Given the description of an element on the screen output the (x, y) to click on. 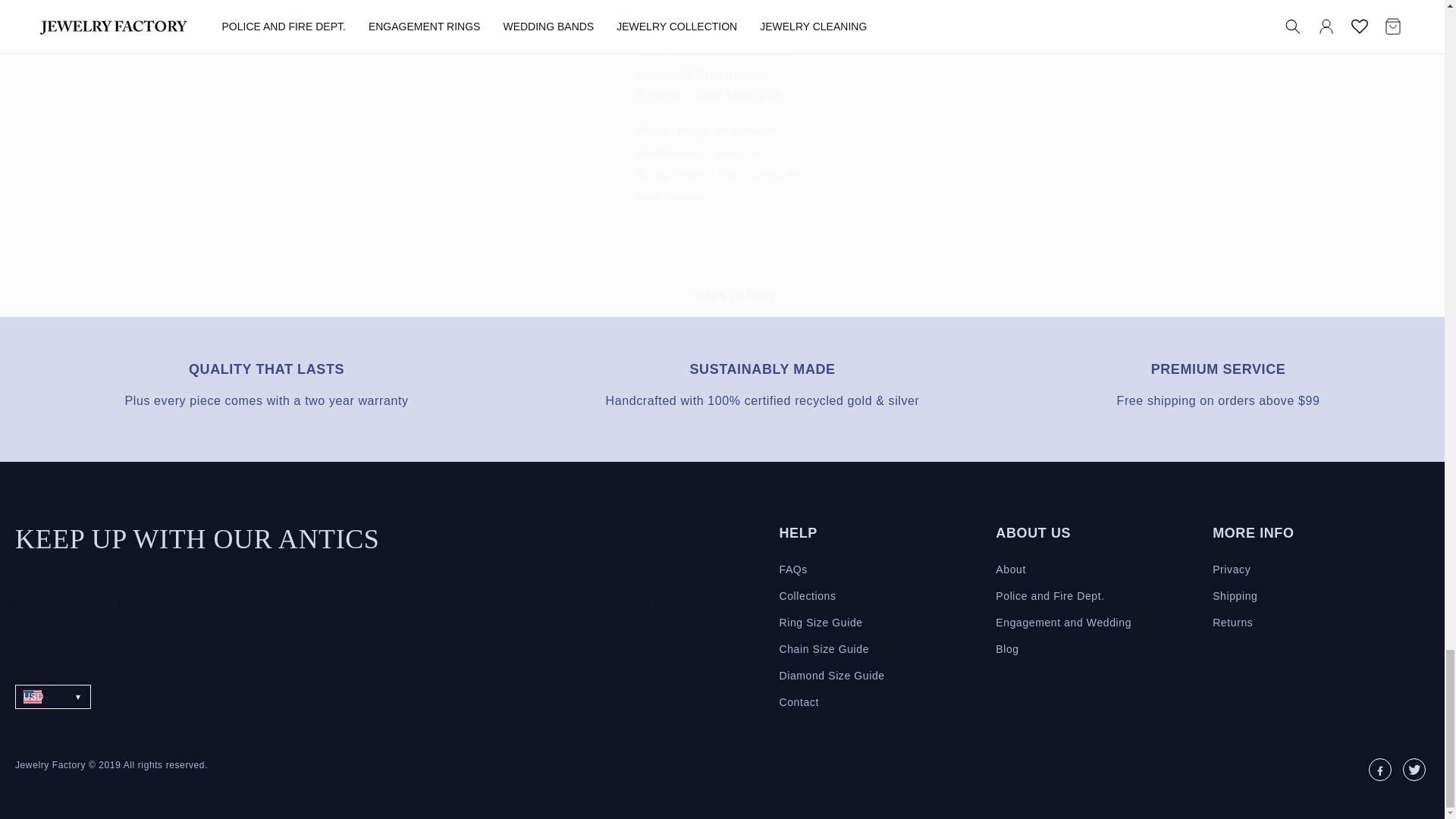
Enter Your Email Address (339, 604)
